Given the description of an element on the screen output the (x, y) to click on. 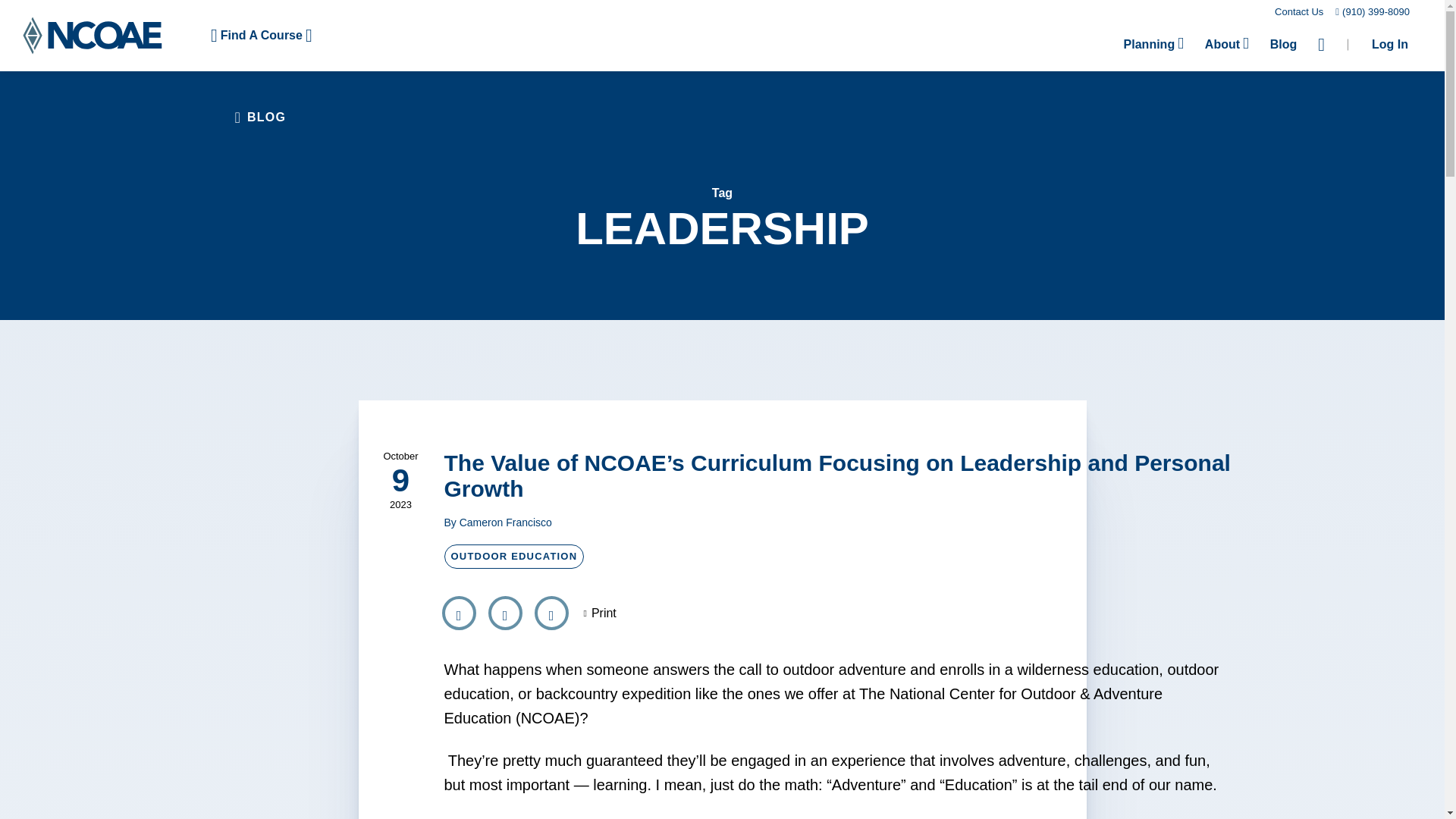
Find A Course (261, 35)
Planning (1153, 44)
Contact Us (1299, 11)
